Given the description of an element on the screen output the (x, y) to click on. 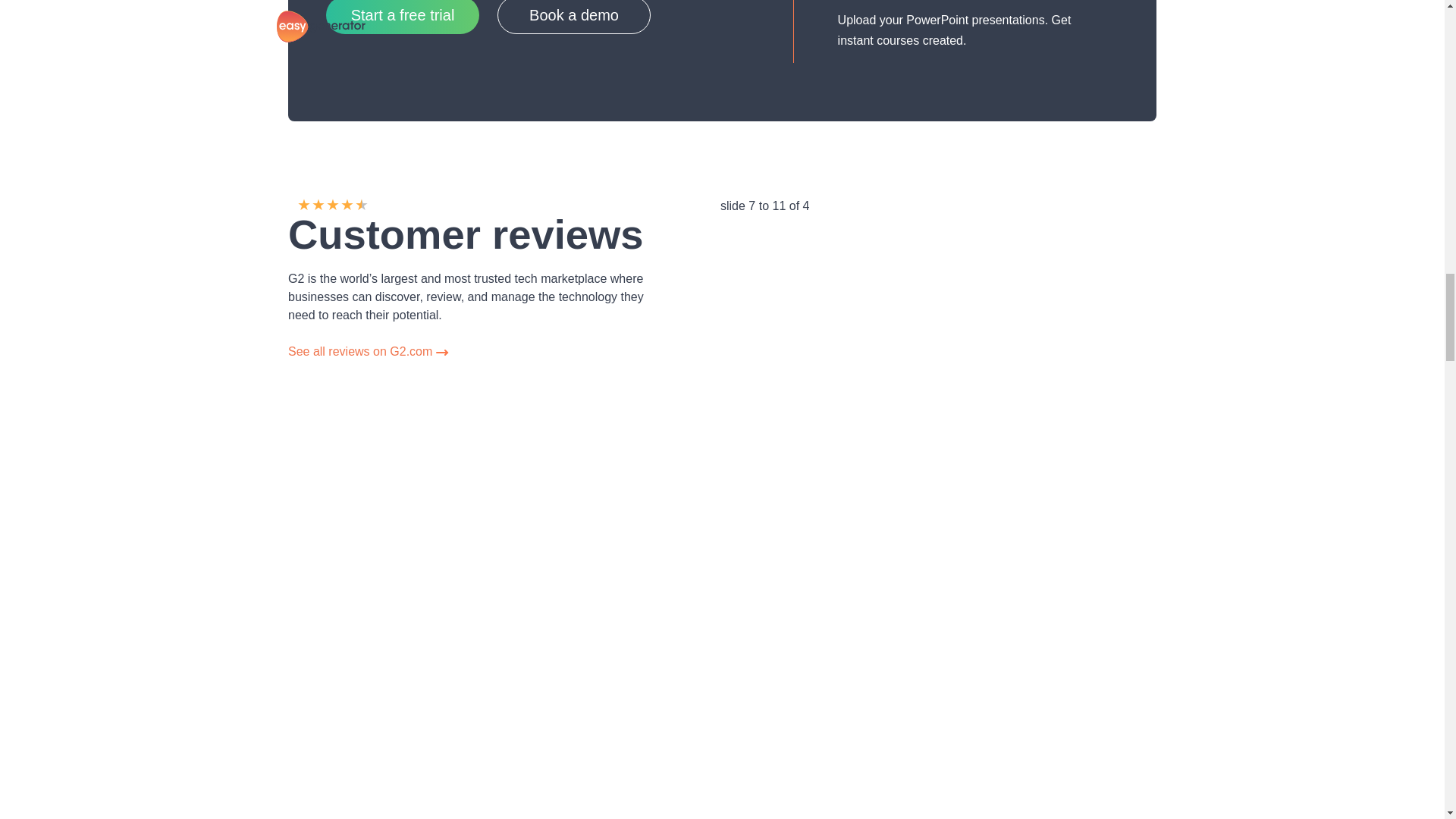
Book a demo (573, 17)
Start a free trial (402, 17)
See all reviews on G2.com (368, 350)
